Given the description of an element on the screen output the (x, y) to click on. 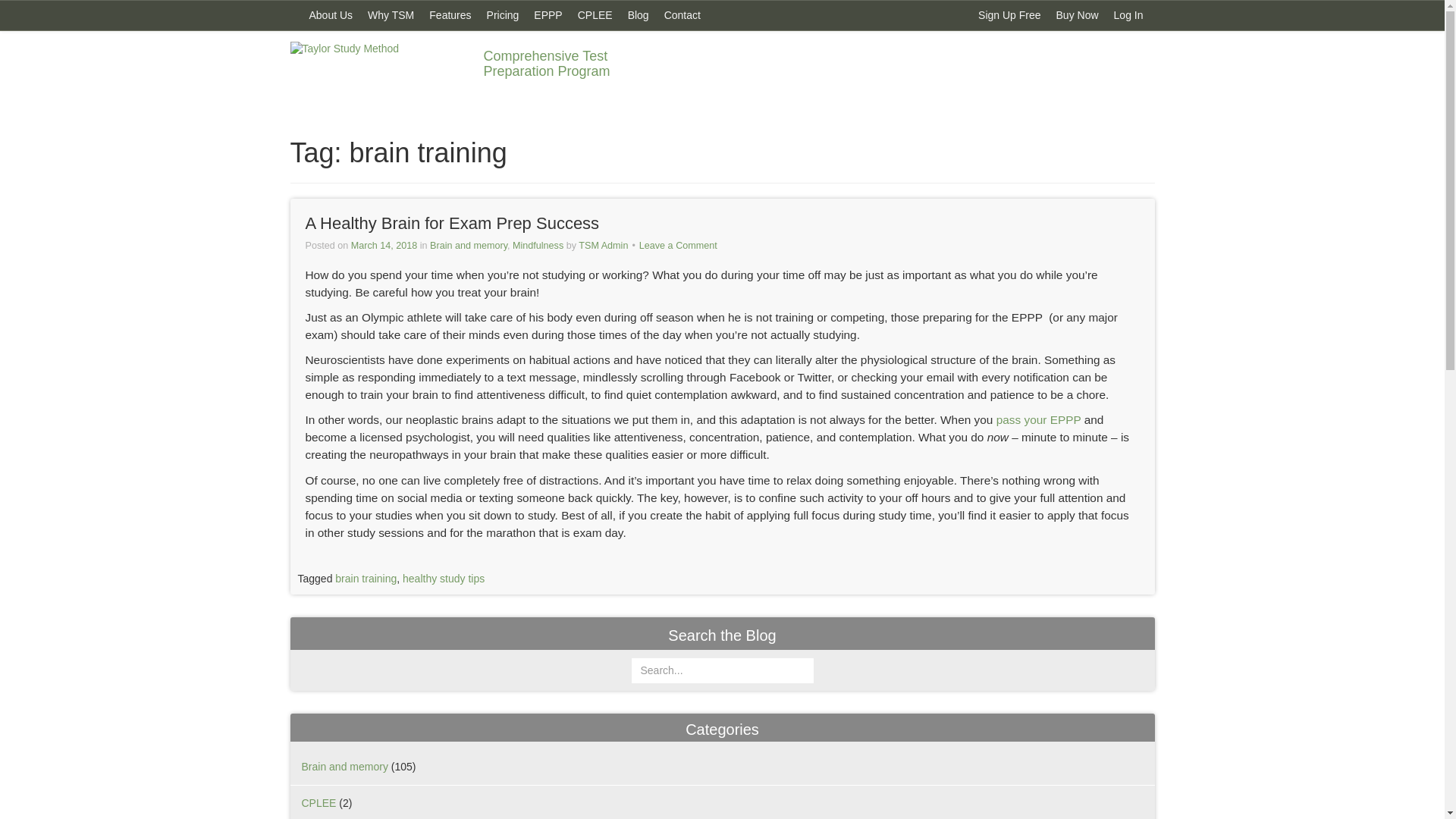
March 14, 2018 (383, 245)
brain training (365, 578)
Pricing (503, 15)
EPPP (547, 15)
Blog (638, 15)
Log In (1128, 15)
Sign Up Free (1009, 15)
Brain and memory (467, 245)
Brain and memory (344, 766)
Why TSM (390, 15)
A Healthy Brain for Exam Prep Success (451, 222)
Taylor Study Method (374, 68)
About Us (331, 15)
Features (450, 15)
CPLEE (318, 802)
